Given the description of an element on the screen output the (x, y) to click on. 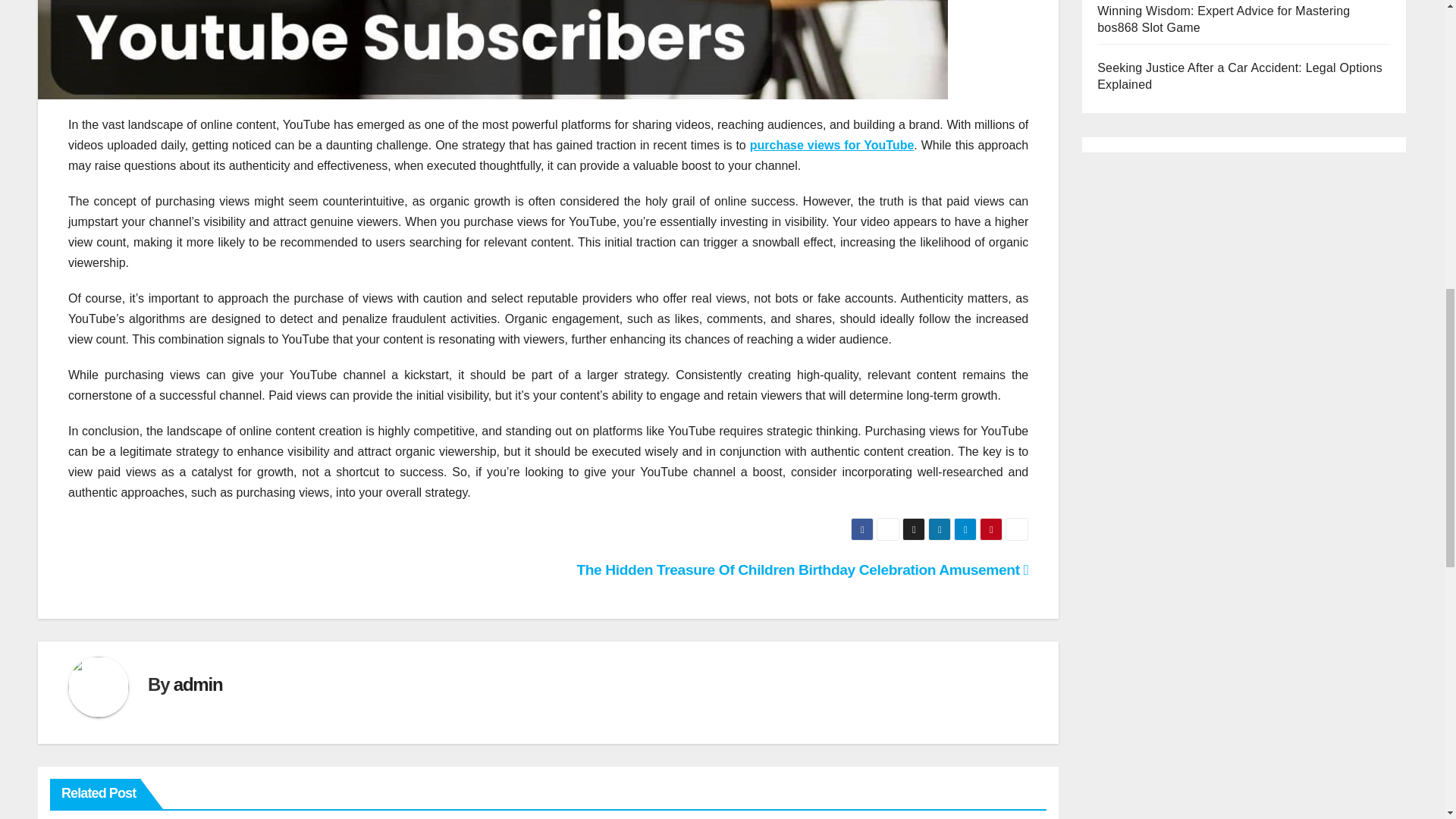
admin (197, 684)
purchase views for YouTube (831, 144)
